Given the description of an element on the screen output the (x, y) to click on. 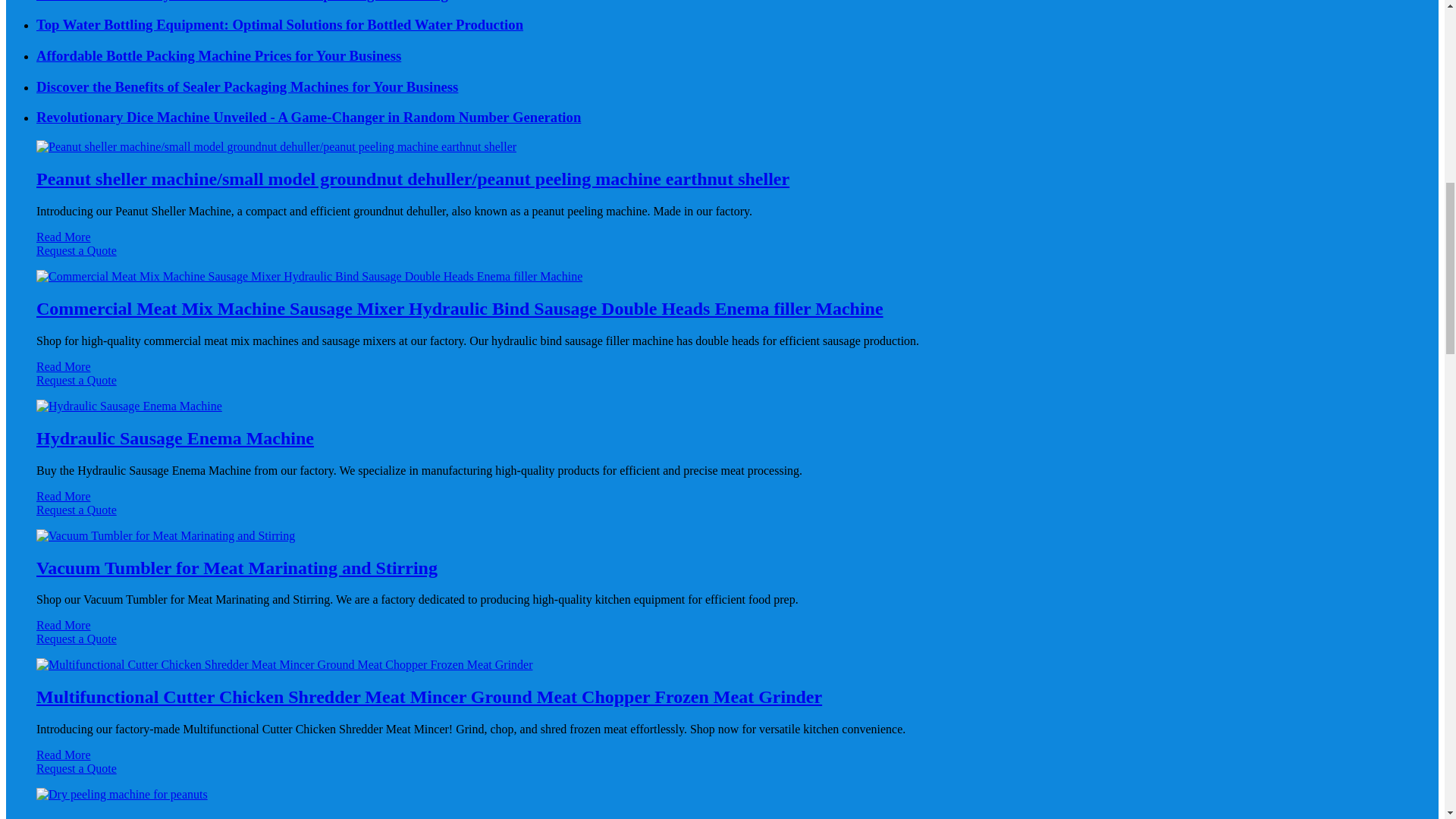
Read More (63, 236)
Request a Quote (721, 257)
